Given the description of an element on the screen output the (x, y) to click on. 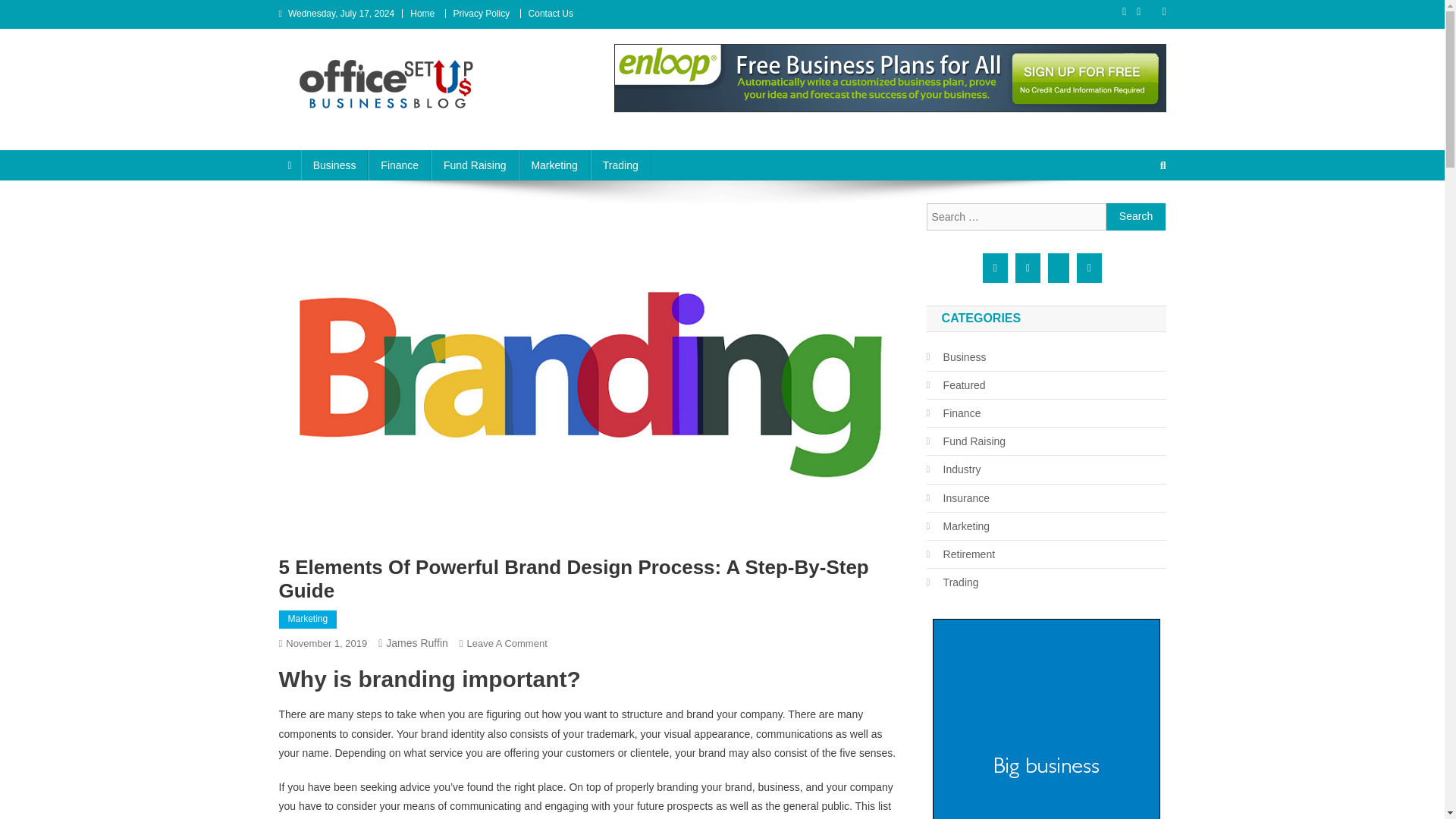
Search (1136, 216)
Fund Raising (474, 164)
Marketing (553, 164)
Finance (399, 164)
Contact Us (550, 13)
Home (421, 13)
Search (1133, 216)
James Ruffin (415, 643)
November 1, 2019 (325, 643)
Marketing (308, 619)
Business (334, 164)
Office SetUp Us (371, 123)
Search (1136, 216)
Trading (620, 164)
